Given the description of an element on the screen output the (x, y) to click on. 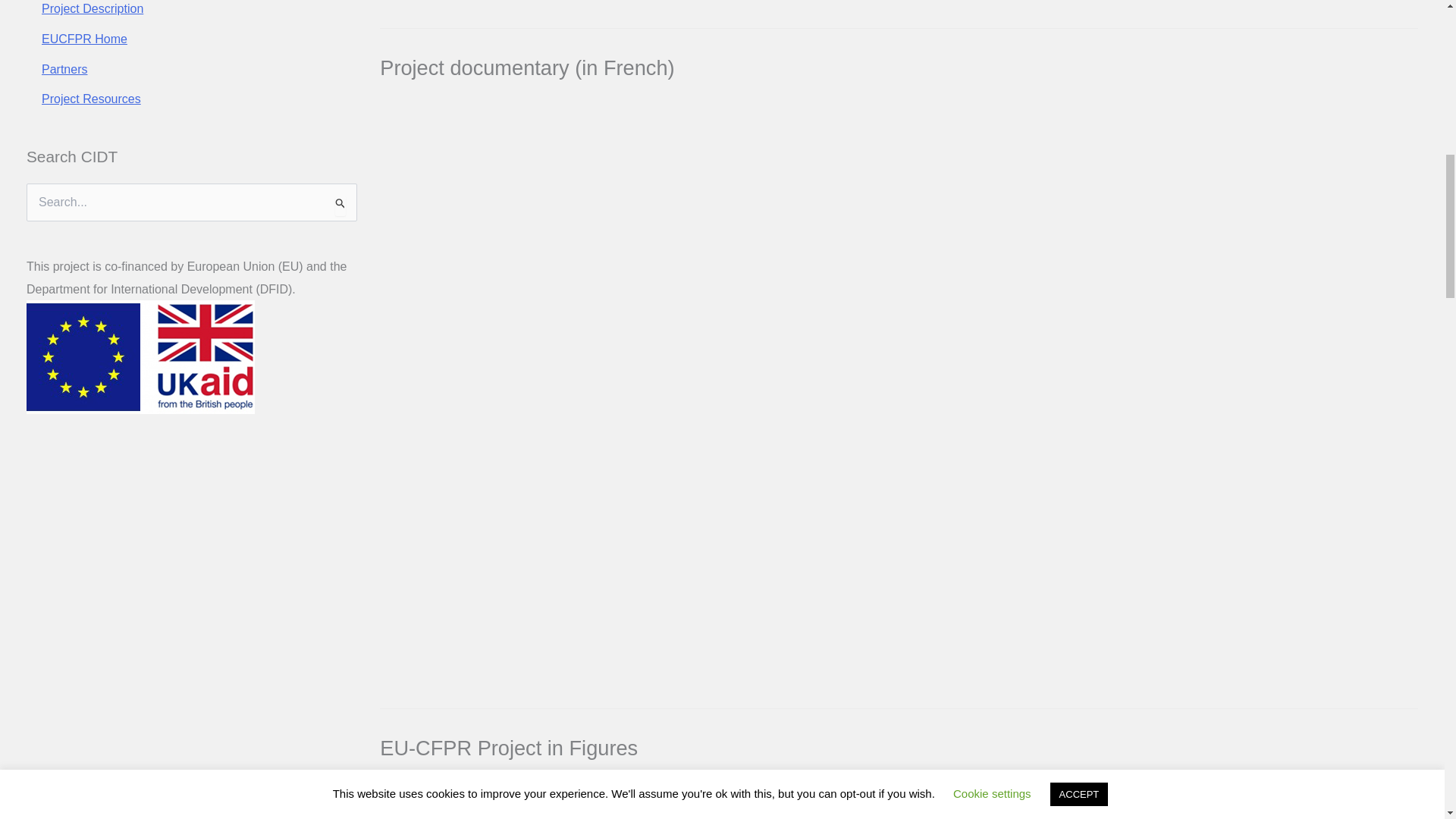
Partners (64, 69)
EUCFPR Home (85, 38)
Project Description (92, 8)
